Given the description of an element on the screen output the (x, y) to click on. 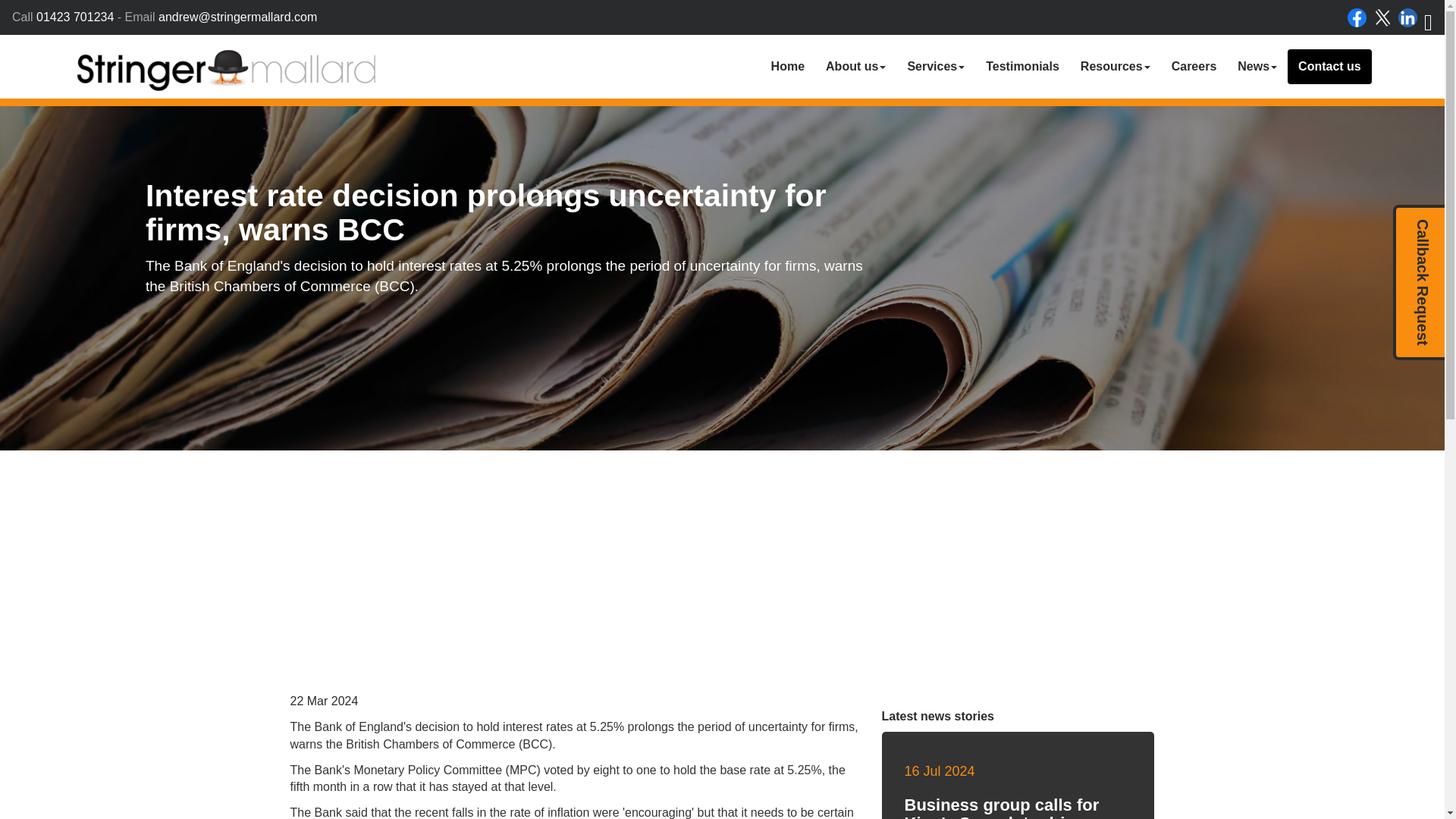
Testimonials (1022, 66)
Services (935, 66)
Careers (1193, 66)
01423 701234 (74, 16)
Resources (1115, 66)
About us (855, 66)
Home (787, 66)
Stringer Mallard - Accountants in Harrogate (225, 69)
News (1257, 66)
Services (935, 66)
About us (855, 66)
Home (787, 66)
